Given the description of an element on the screen output the (x, y) to click on. 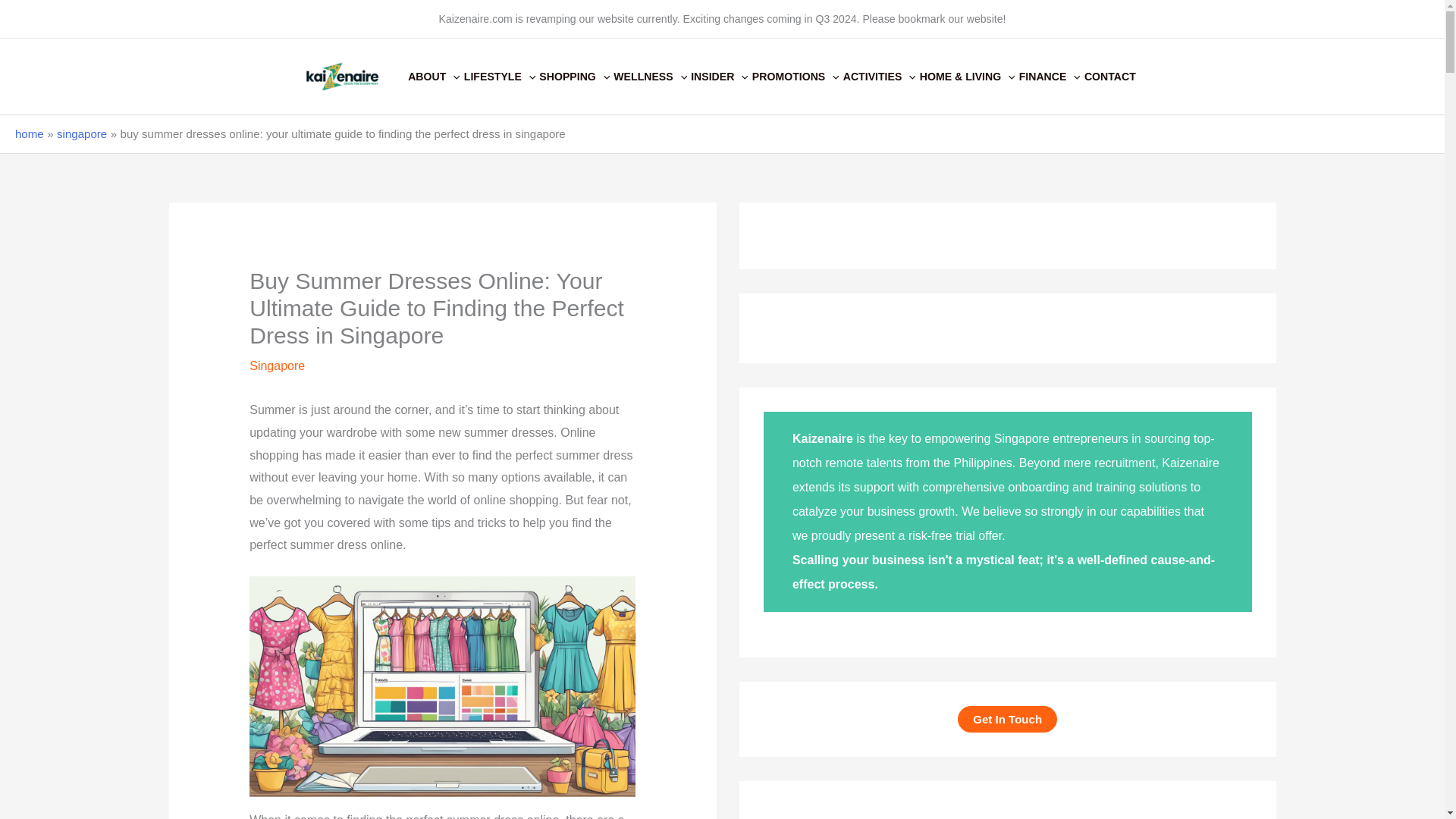
LIFESTYLE (502, 76)
ABOUT (435, 76)
